Given the description of an element on the screen output the (x, y) to click on. 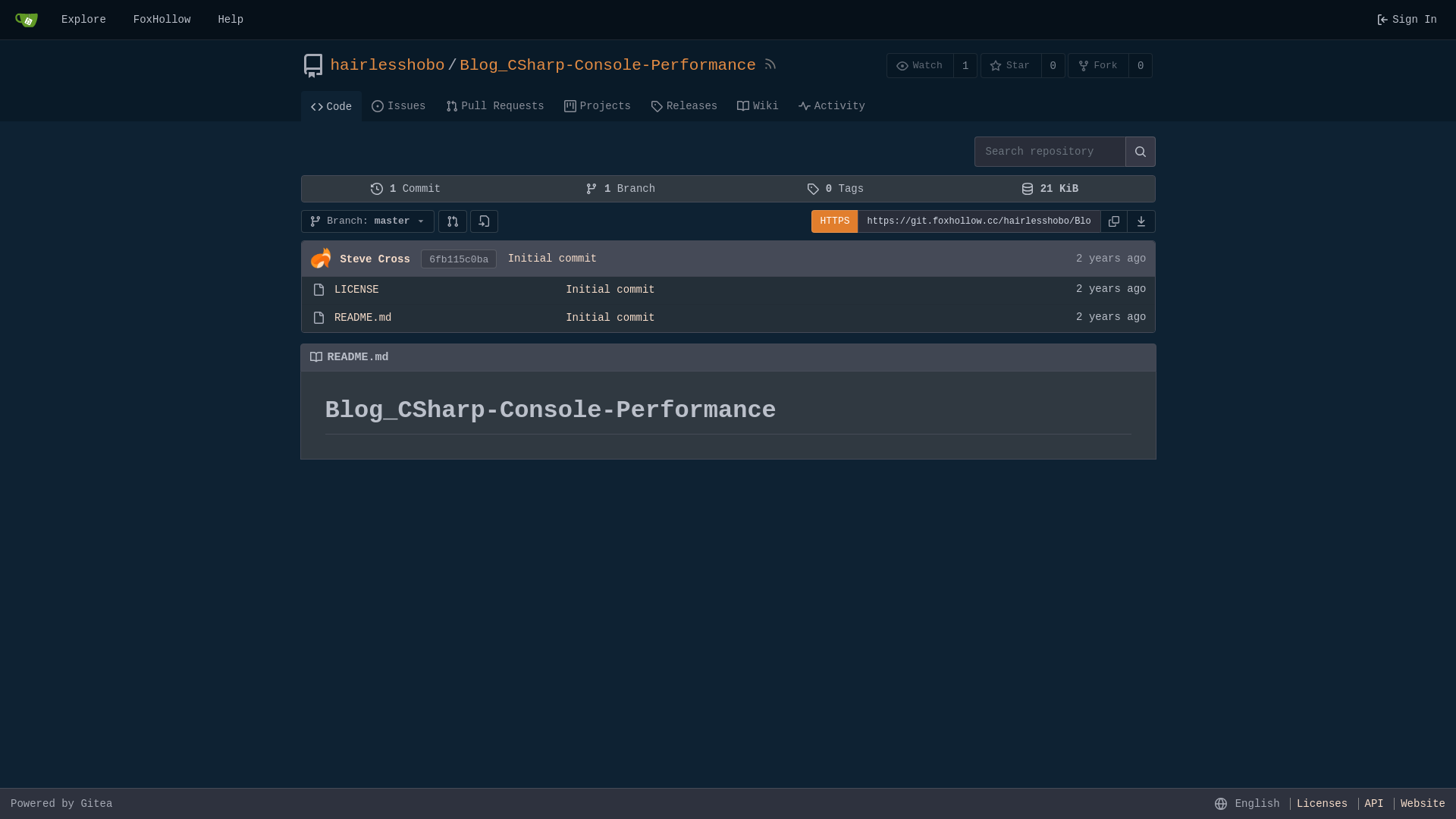
Licenses Element type: text (1318, 803)
1 Branch Element type: text (620, 188)
Sign In Element type: text (1406, 19)
API Element type: text (1370, 803)
1 Element type: text (965, 65)
Watch Element type: text (919, 65)
Initial commit Element type: text (610, 317)
HTTPS Element type: text (833, 221)
LICENSE Element type: text (356, 289)
FoxHollow Element type: text (161, 19)
Star Element type: text (1010, 65)
0 Tags Element type: text (834, 188)
Steve Cross Element type: text (374, 259)
Issues Element type: text (398, 105)
Help Element type: text (230, 19)
1 Commit Element type: text (405, 188)
Releases Element type: text (683, 105)
Steve Cross Element type: hover (319, 257)
Fork Element type: text (1098, 65)
Initial commit Element type: text (610, 289)
Pull Requests Element type: text (495, 105)
Initial commit Element type: text (552, 258)
Website Element type: text (1419, 803)
Code Element type: text (330, 106)
Activity Element type: text (831, 105)
6fb115c0ba Element type: text (458, 258)
Explore Element type: text (83, 19)
0 Element type: text (1140, 65)
Blog_CSharp-Console-Performance Element type: text (607, 65)
Wiki Element type: text (757, 105)
hairlesshobo Element type: text (387, 65)
Projects Element type: text (597, 105)
0 Element type: text (1053, 65)
README.md Element type: text (363, 317)
